Given the description of an element on the screen output the (x, y) to click on. 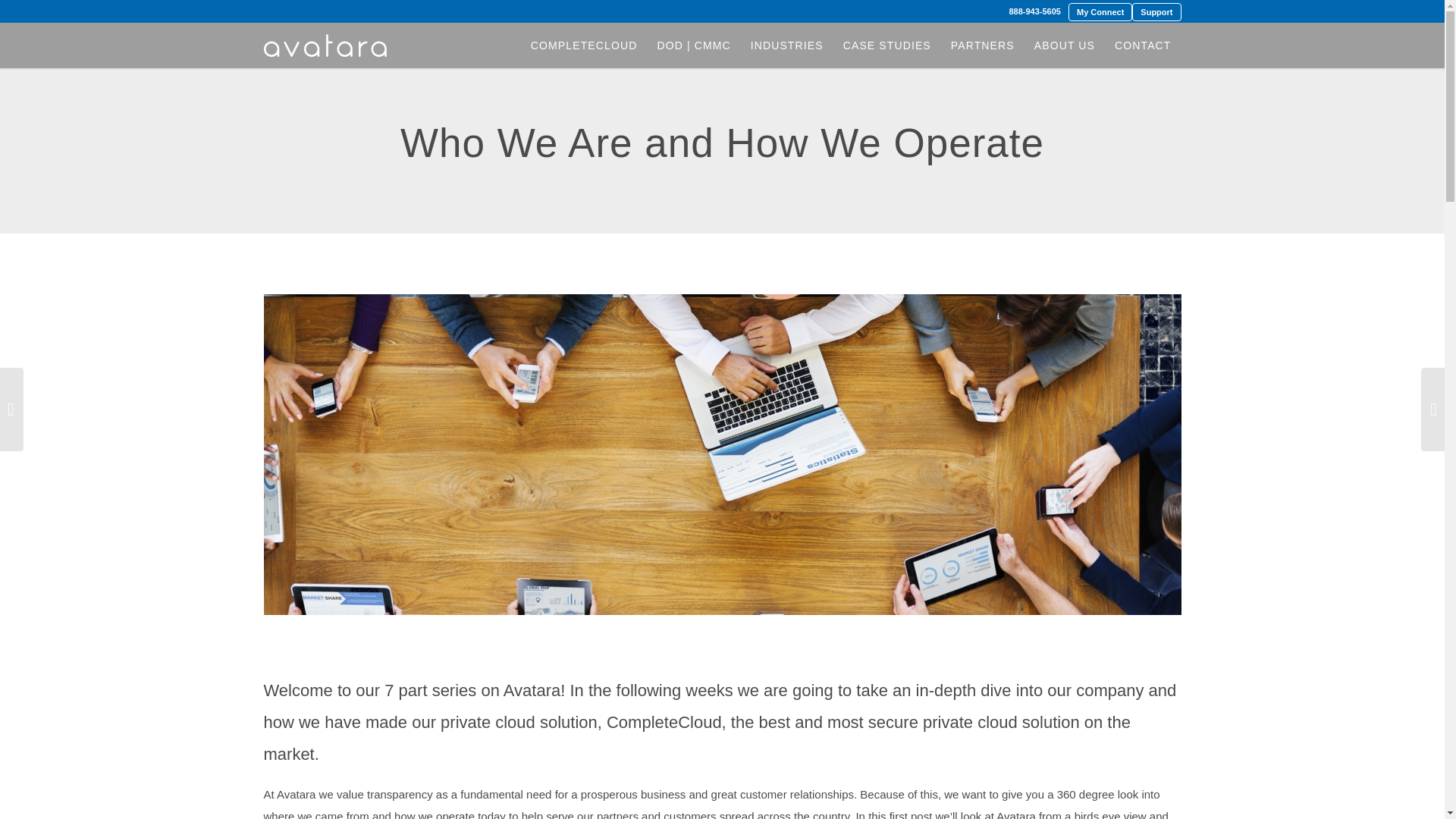
888-943-5605 (1035, 10)
PARTNERS (982, 44)
CONTACT (1142, 44)
CASE STUDIES (886, 44)
COMPLETECLOUD (584, 44)
Support (1156, 11)
INDUSTRIES (786, 44)
My Connect (1100, 11)
ABOUT US (1065, 44)
